Given the description of an element on the screen output the (x, y) to click on. 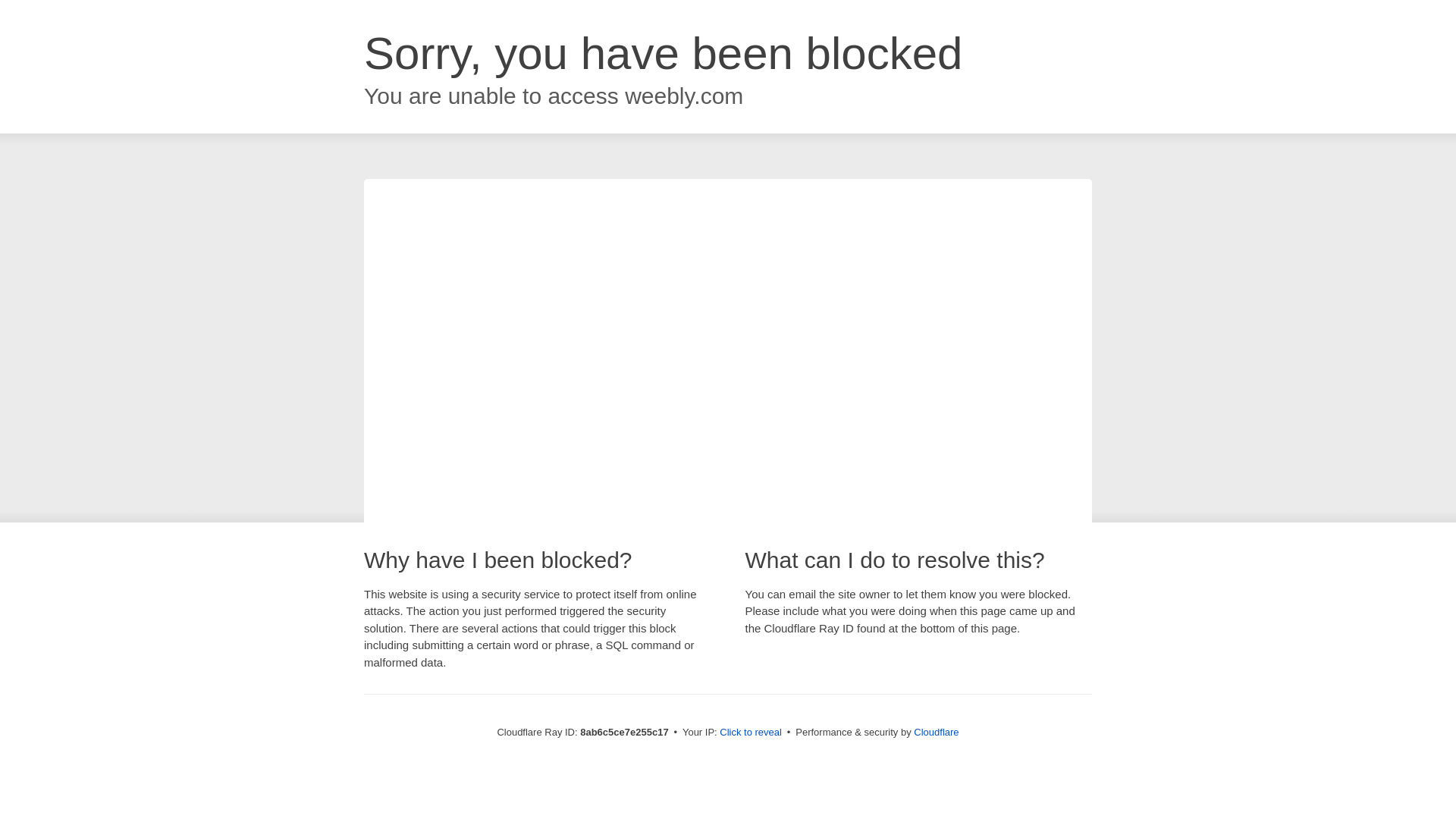
Click to reveal (750, 732)
Cloudflare (936, 731)
